Given the description of an element on the screen output the (x, y) to click on. 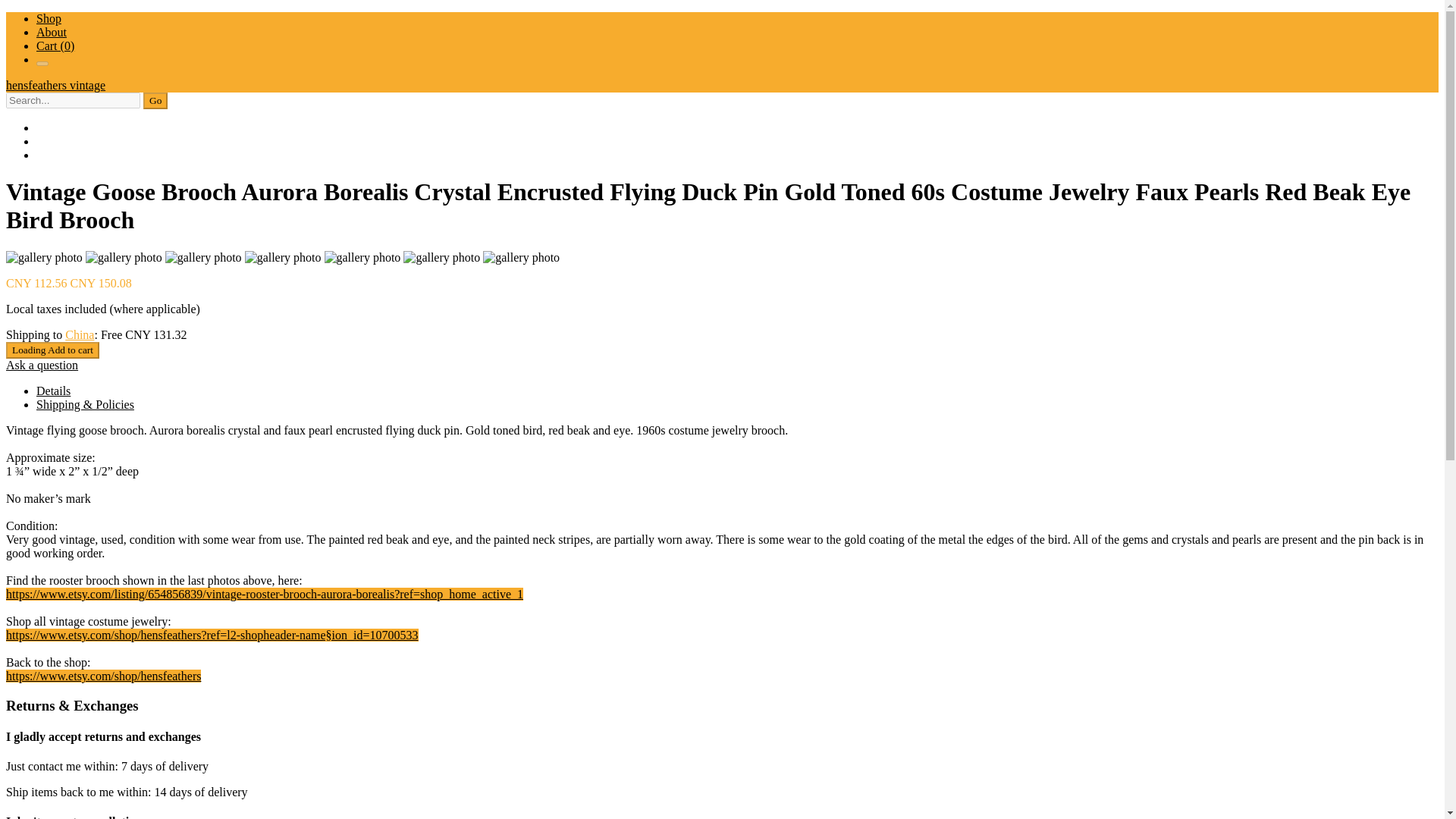
About (51, 31)
Go (154, 100)
Loading Add to cart (52, 350)
Details (52, 390)
Shop (48, 18)
Go (154, 100)
Ask a question (41, 364)
China (79, 334)
